Given the description of an element on the screen output the (x, y) to click on. 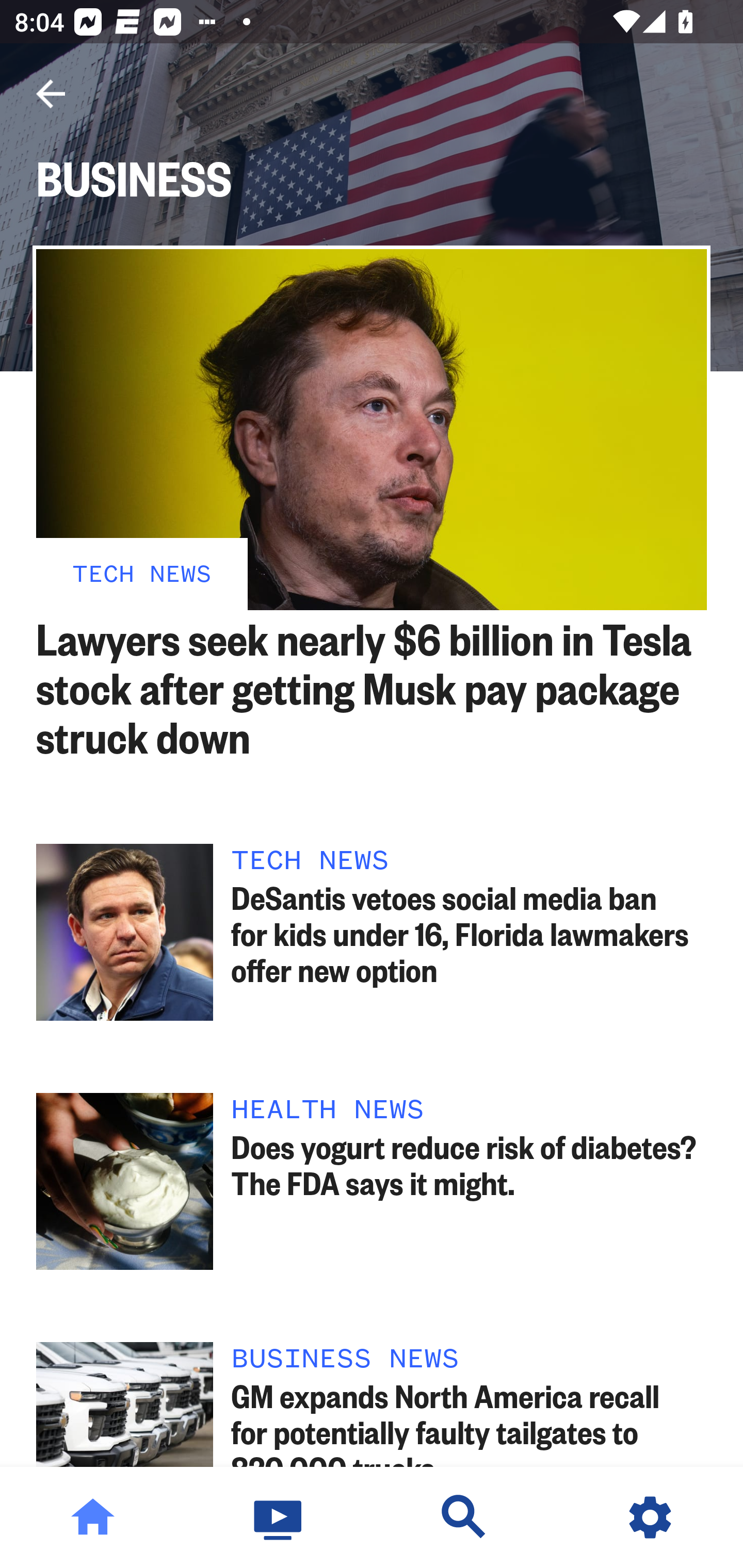
Navigate up (50, 93)
Watch (278, 1517)
Discover (464, 1517)
Settings (650, 1517)
